Given the description of an element on the screen output the (x, y) to click on. 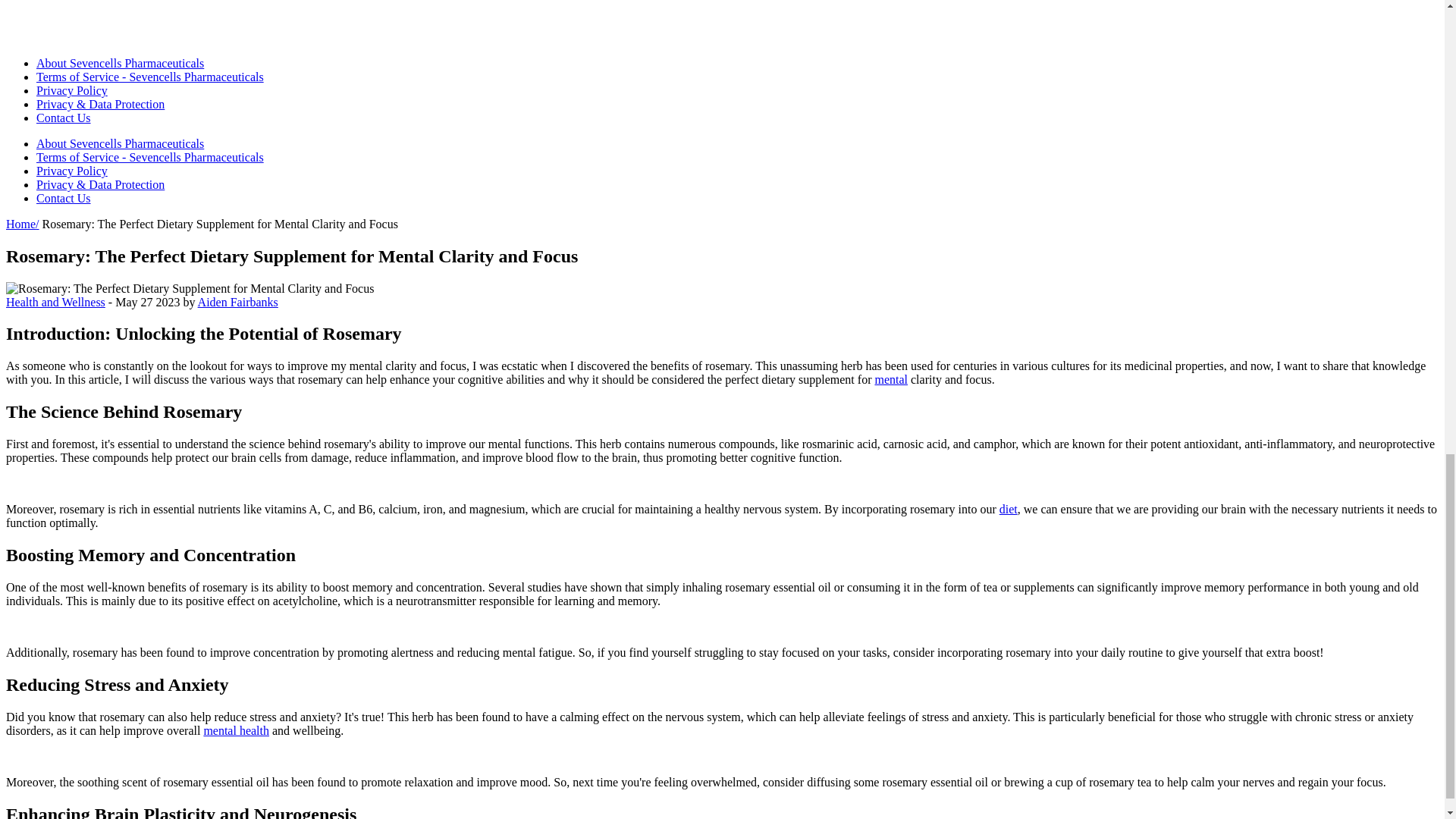
Health and Wellness (54, 301)
Privacy Policy (71, 90)
mental health (236, 730)
The Impact of Physical Activity and Dietary Habits on ... (891, 379)
diet (1007, 508)
About Sevencells Pharmaceuticals (119, 62)
Contact Us (63, 197)
The Impact of Nutrients on Mental Health and Well-Being (236, 730)
About Sevencells Pharmaceuticals (119, 143)
Privacy Policy (71, 170)
Demonstrating a link between diet, gut microbiota and brain (1007, 508)
Contact Us (63, 117)
Terms of Service - Sevencells Pharmaceuticals (149, 156)
Aiden Fairbanks (238, 301)
Terms of Service - Sevencells Pharmaceuticals (149, 76)
